Given the description of an element on the screen output the (x, y) to click on. 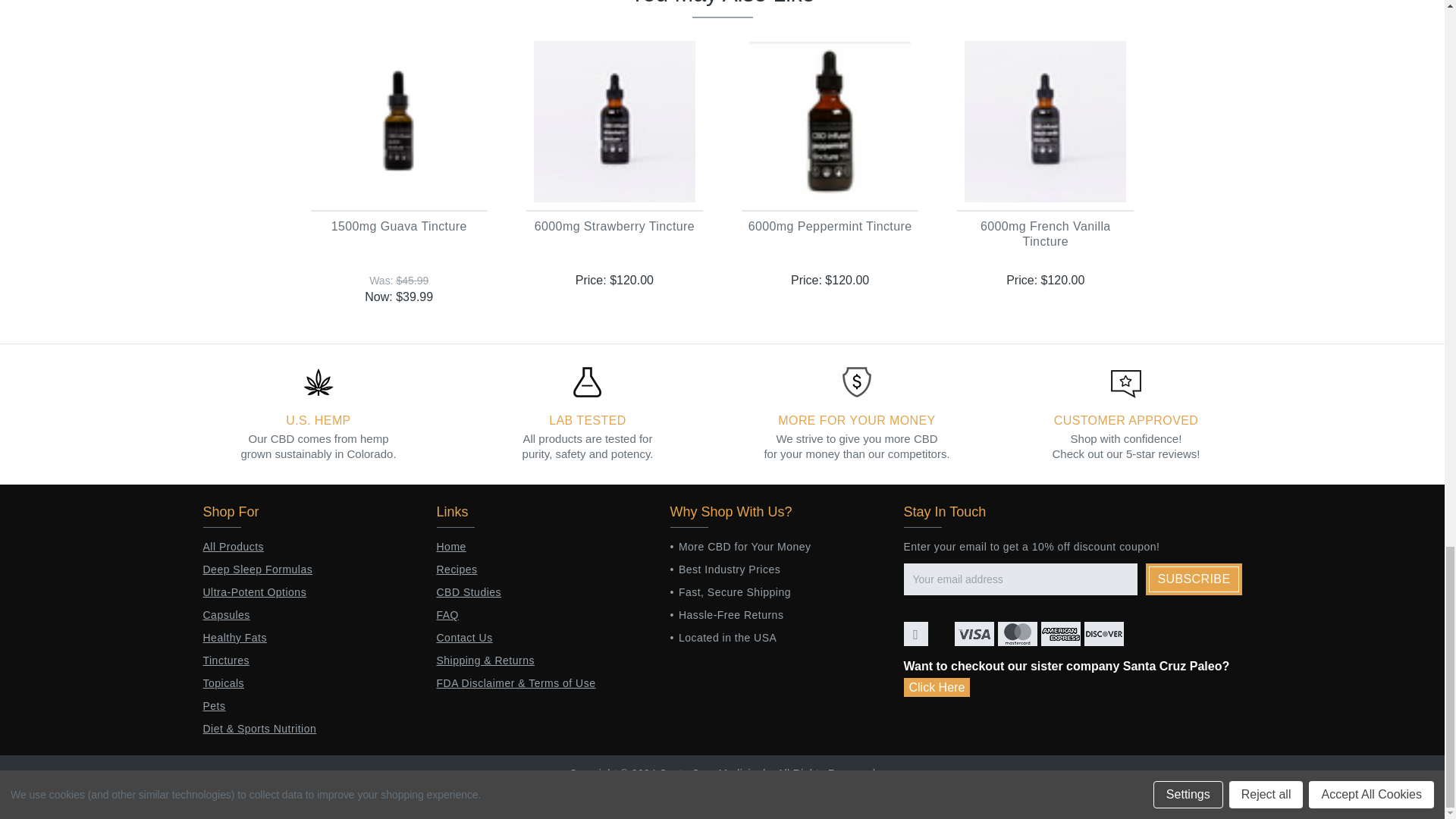
Subscribe (1193, 579)
Peppermint 6000 (830, 121)
You May Also Like (721, 9)
6000mg French Vanilla (1044, 121)
